Given the description of an element on the screen output the (x, y) to click on. 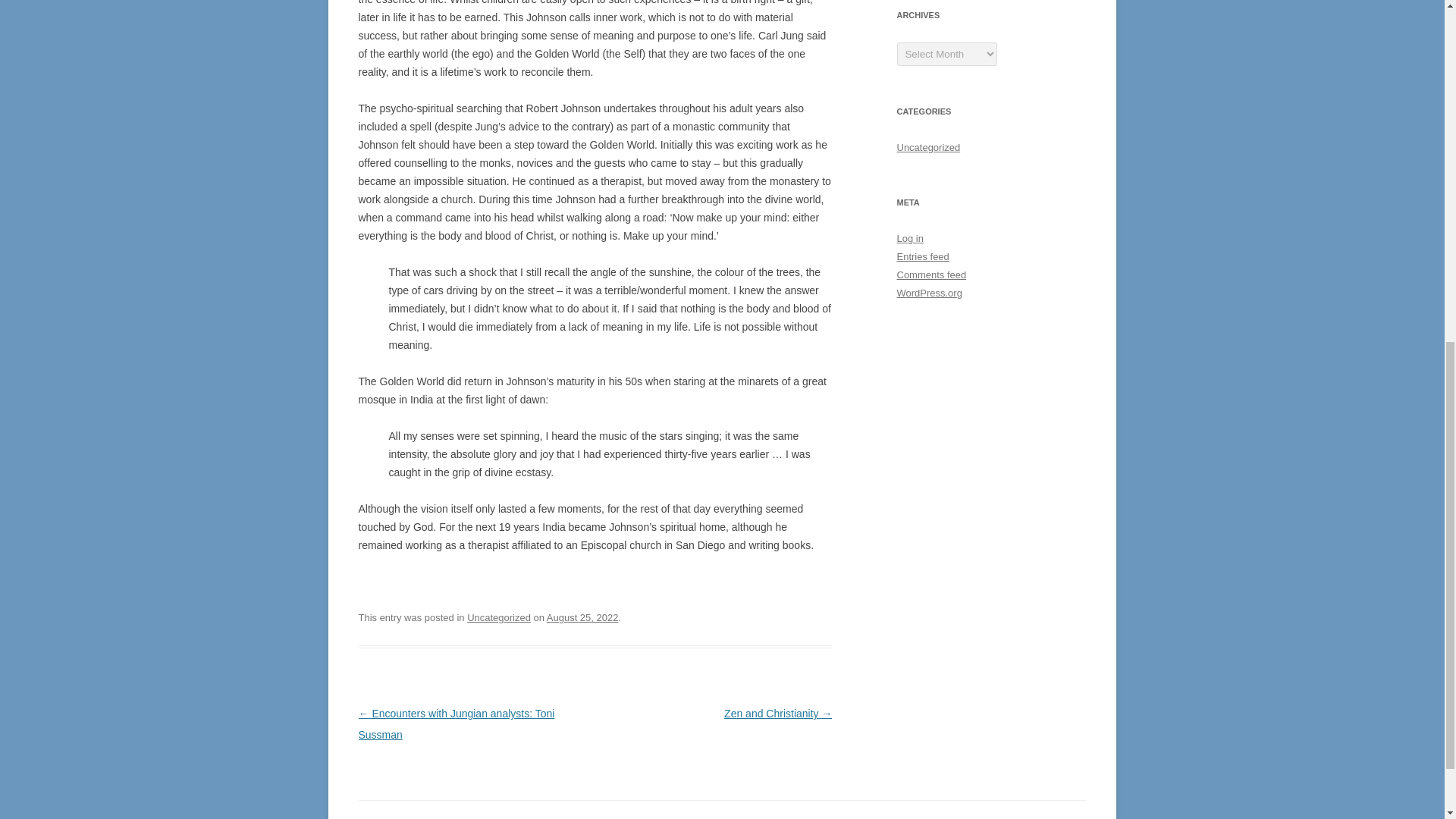
WordPress.org (928, 292)
9:02 am (582, 617)
August 25, 2022 (582, 617)
Comments feed (931, 274)
Entries feed (922, 256)
Log in (909, 238)
Uncategorized (499, 617)
Uncategorized (927, 147)
